Given the description of an element on the screen output the (x, y) to click on. 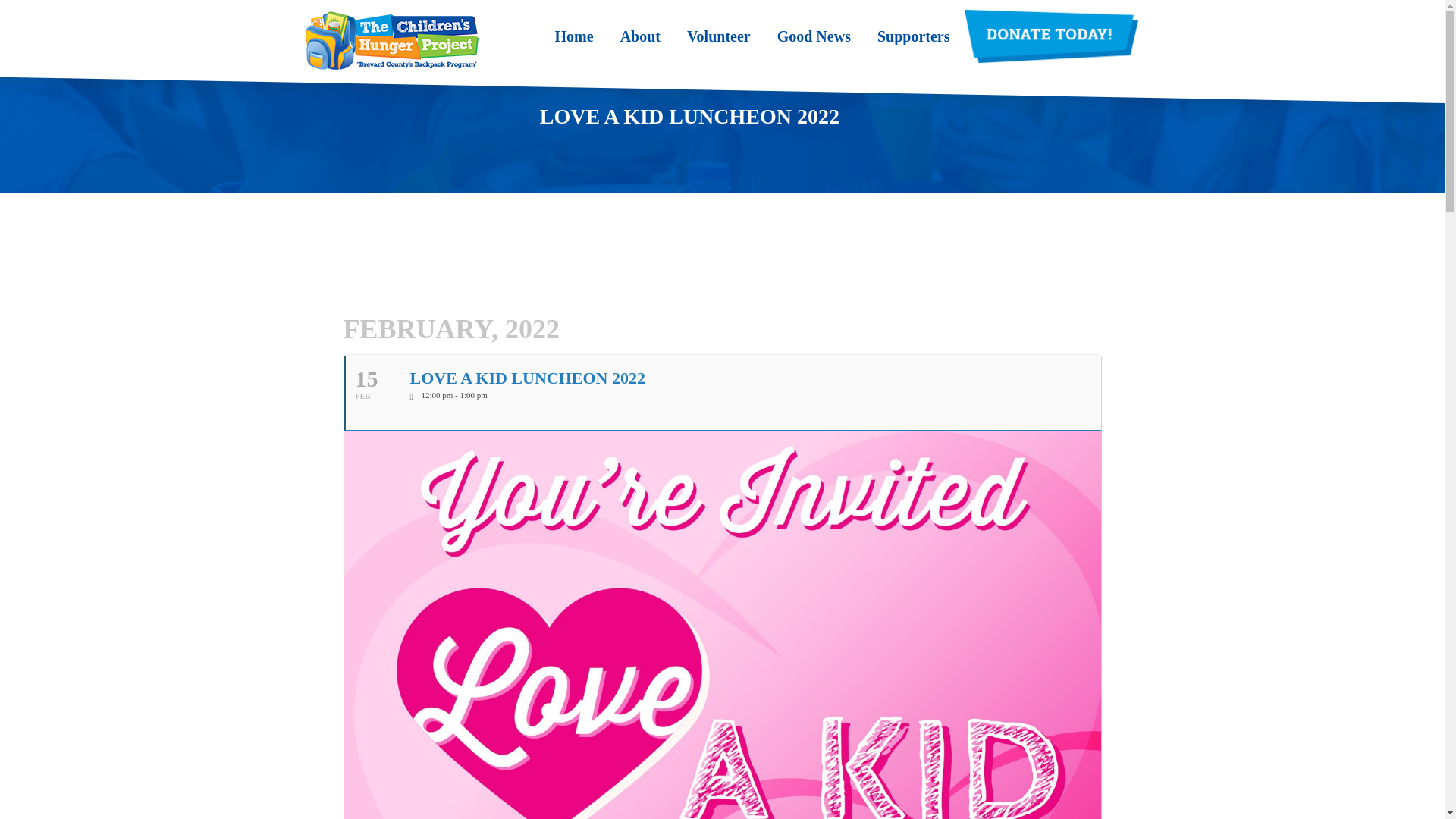
Home (574, 35)
About (640, 35)
Good News (813, 35)
Volunteer (719, 35)
Supporters (913, 35)
